Given the description of an element on the screen output the (x, y) to click on. 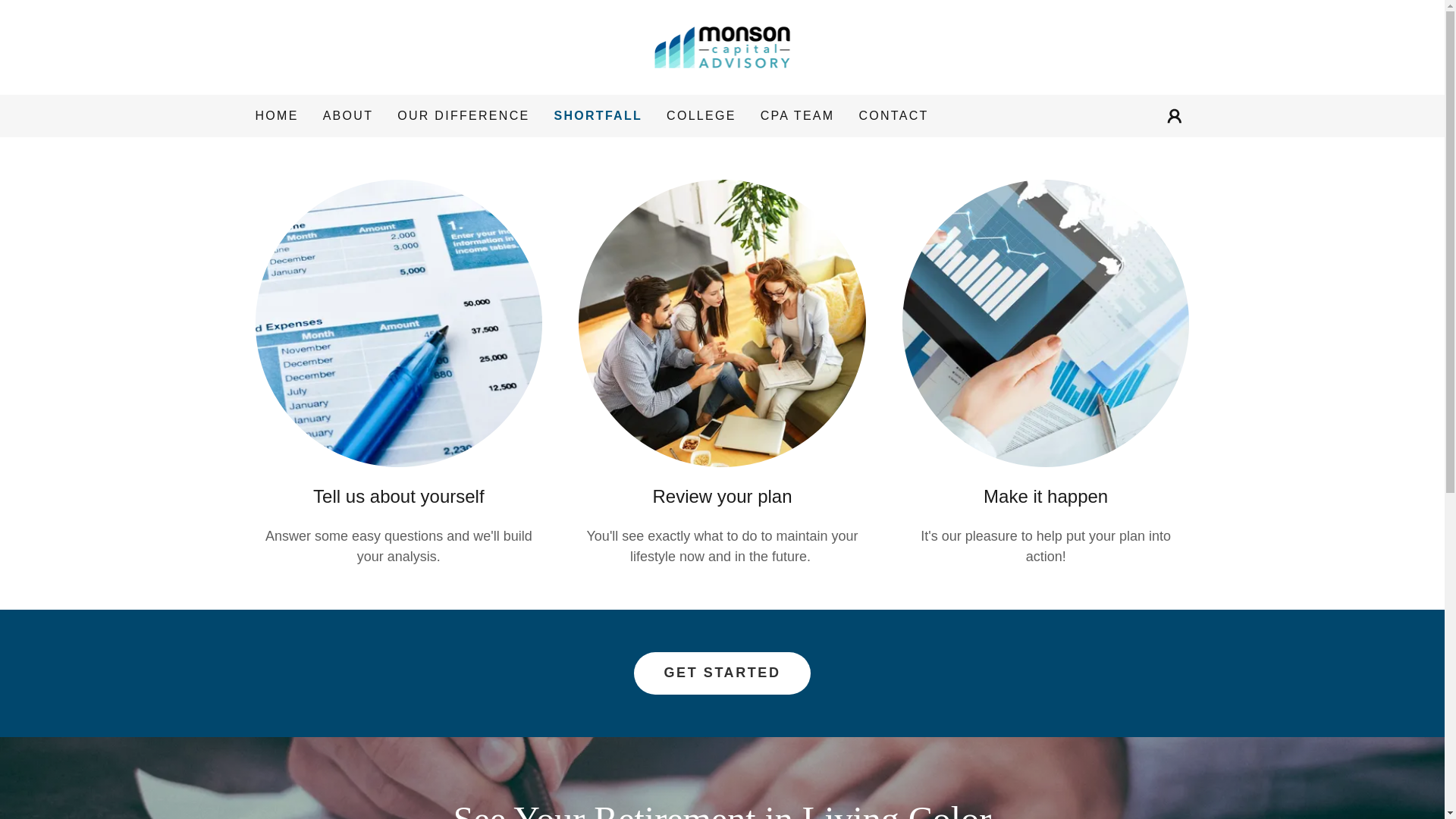
COLLEGE (701, 115)
CONTACT (893, 115)
CPA TEAM (797, 115)
SHORTFALL (597, 116)
GET STARTED (721, 672)
Monson Capital (722, 46)
ABOUT (348, 115)
OUR DIFFERENCE (463, 115)
HOME (276, 115)
